Given the description of an element on the screen output the (x, y) to click on. 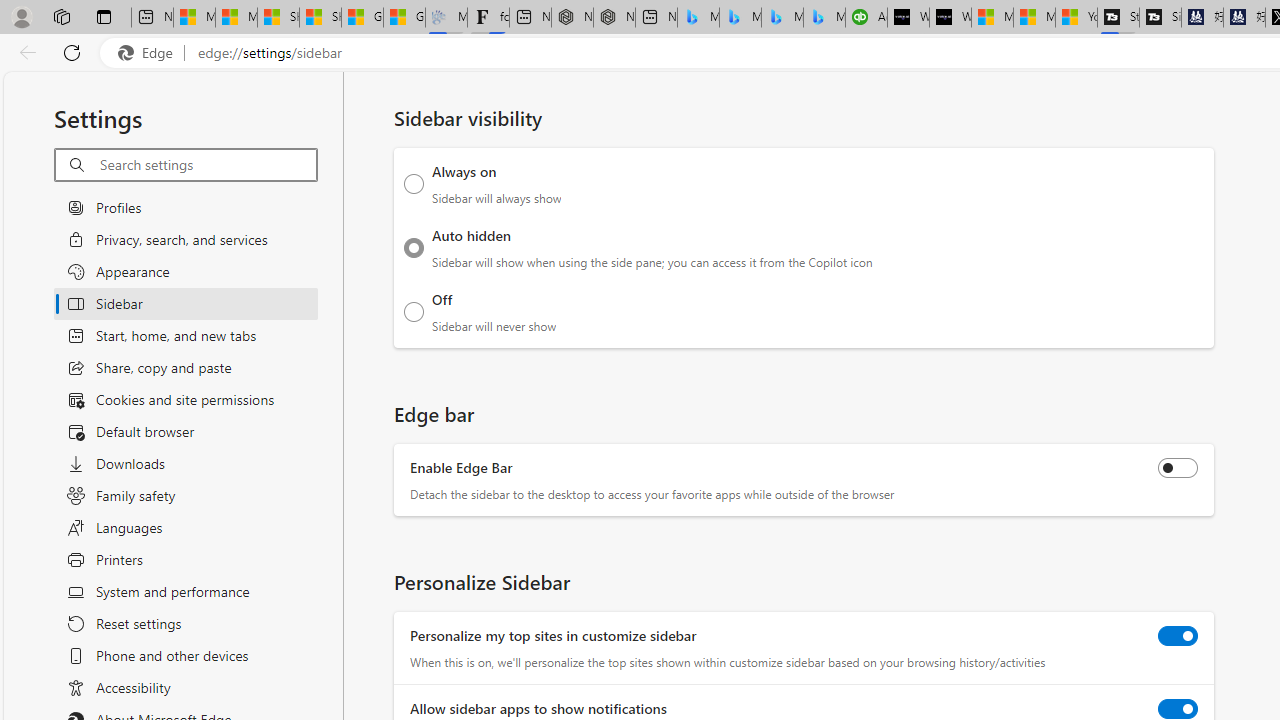
Always on Sidebar will always show (413, 183)
